Given the description of an element on the screen output the (x, y) to click on. 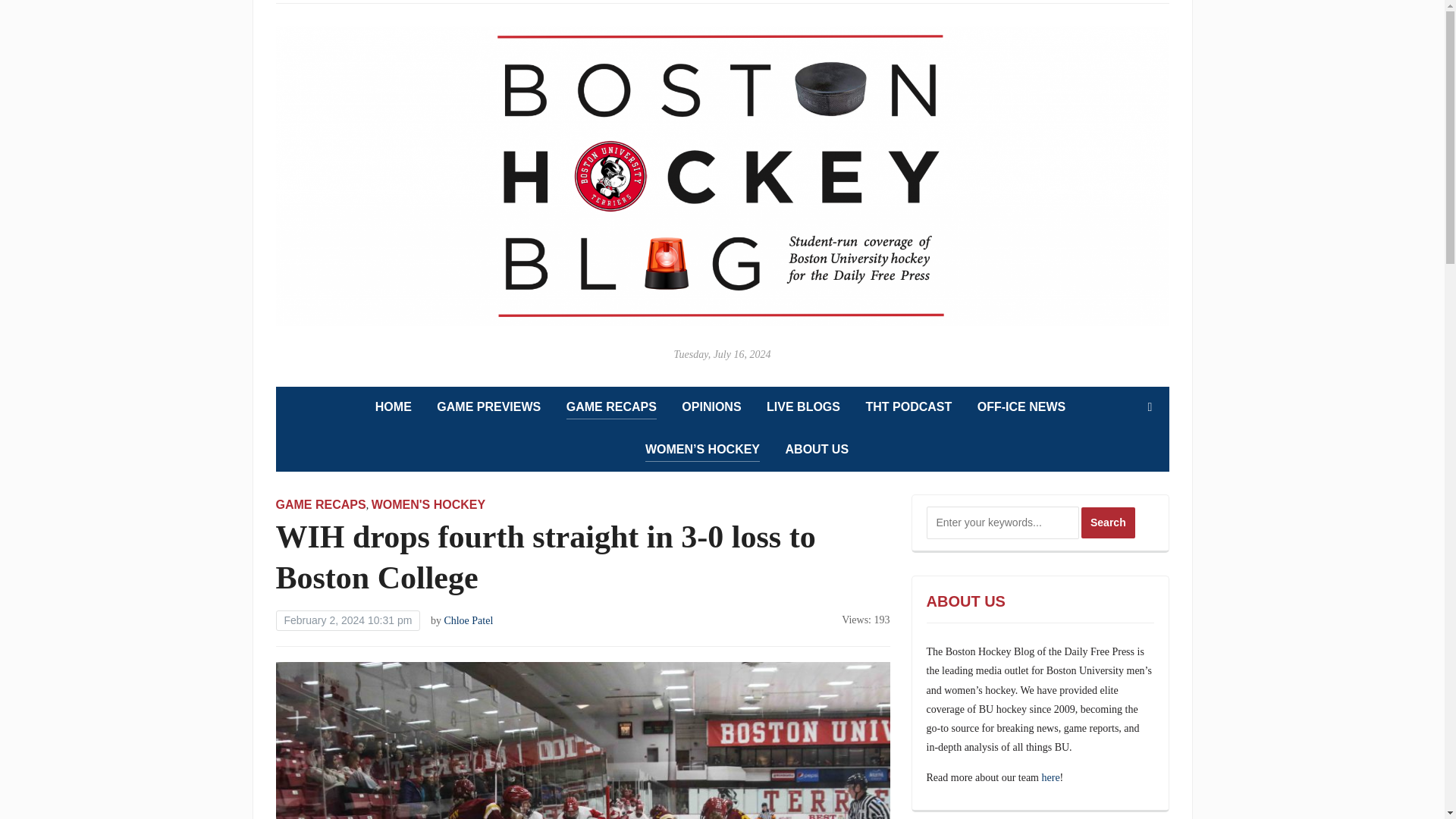
OPINIONS (711, 407)
GAME RECAPS (611, 407)
THT PODCAST (908, 407)
HOME (393, 407)
WOMEN'S HOCKEY (427, 504)
Chloe Patel (468, 620)
Search (1108, 522)
GAME RECAPS (321, 504)
ABOUT US (817, 449)
OFF-ICE NEWS (1020, 407)
GAME PREVIEWS (488, 407)
LIVE BLOGS (803, 407)
Search (1108, 522)
Search (1149, 407)
Search (1108, 522)
